Given the description of an element on the screen output the (x, y) to click on. 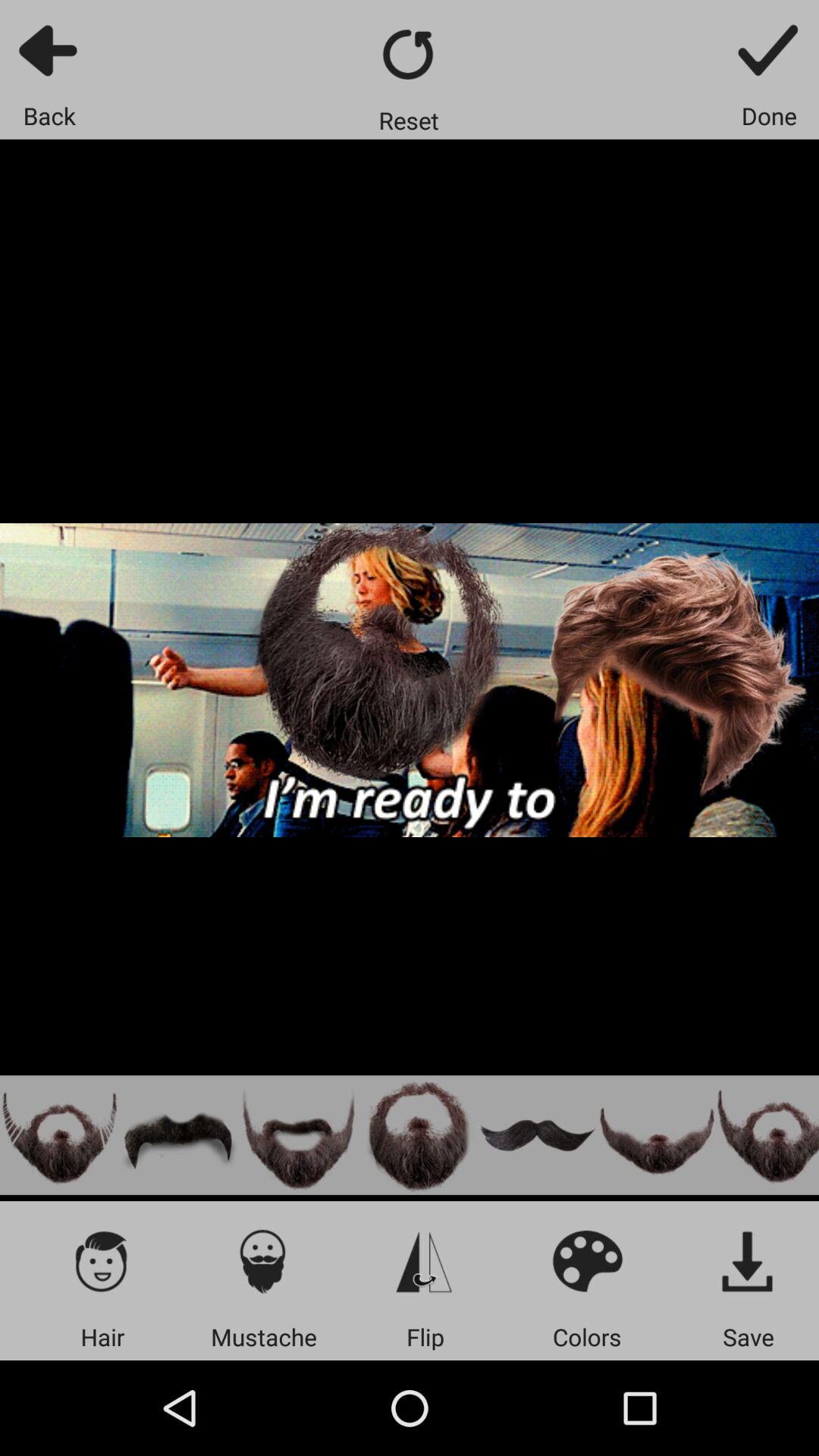
select the mustache (656, 1134)
